Given the description of an element on the screen output the (x, y) to click on. 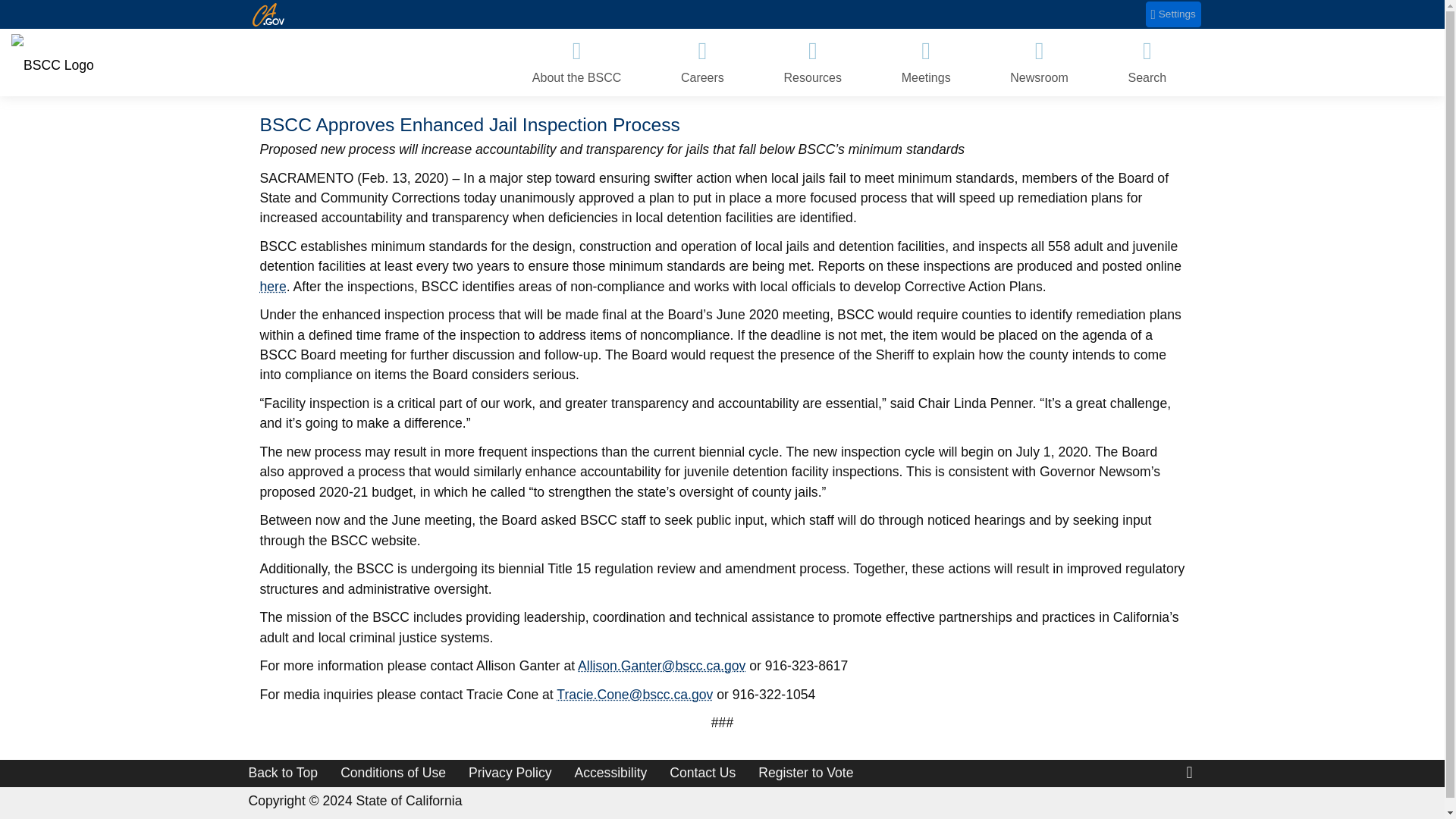
CA.gov website (267, 14)
Conditions of Use (392, 772)
Careers (702, 62)
About the BSCC (576, 62)
Resources (812, 62)
Newsroom (1038, 62)
Contact Us (702, 772)
Meetings (924, 62)
CA.gov (267, 14)
Register to Vote (805, 772)
